Given the description of an element on the screen output the (x, y) to click on. 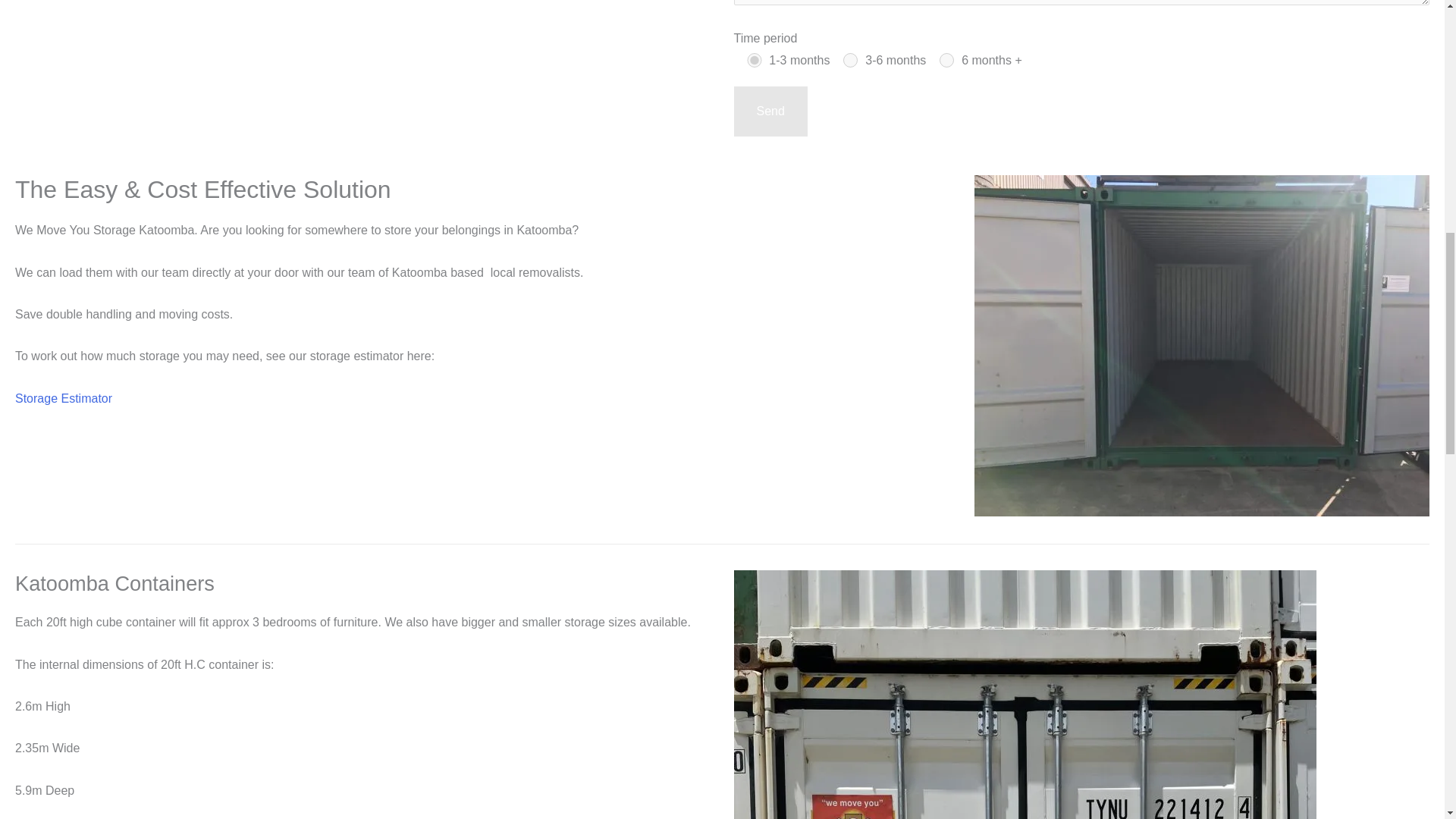
1-3 months (753, 60)
Send (770, 111)
3-6 months (850, 60)
Send (770, 111)
Storage Estimator (63, 398)
